Given the description of an element on the screen output the (x, y) to click on. 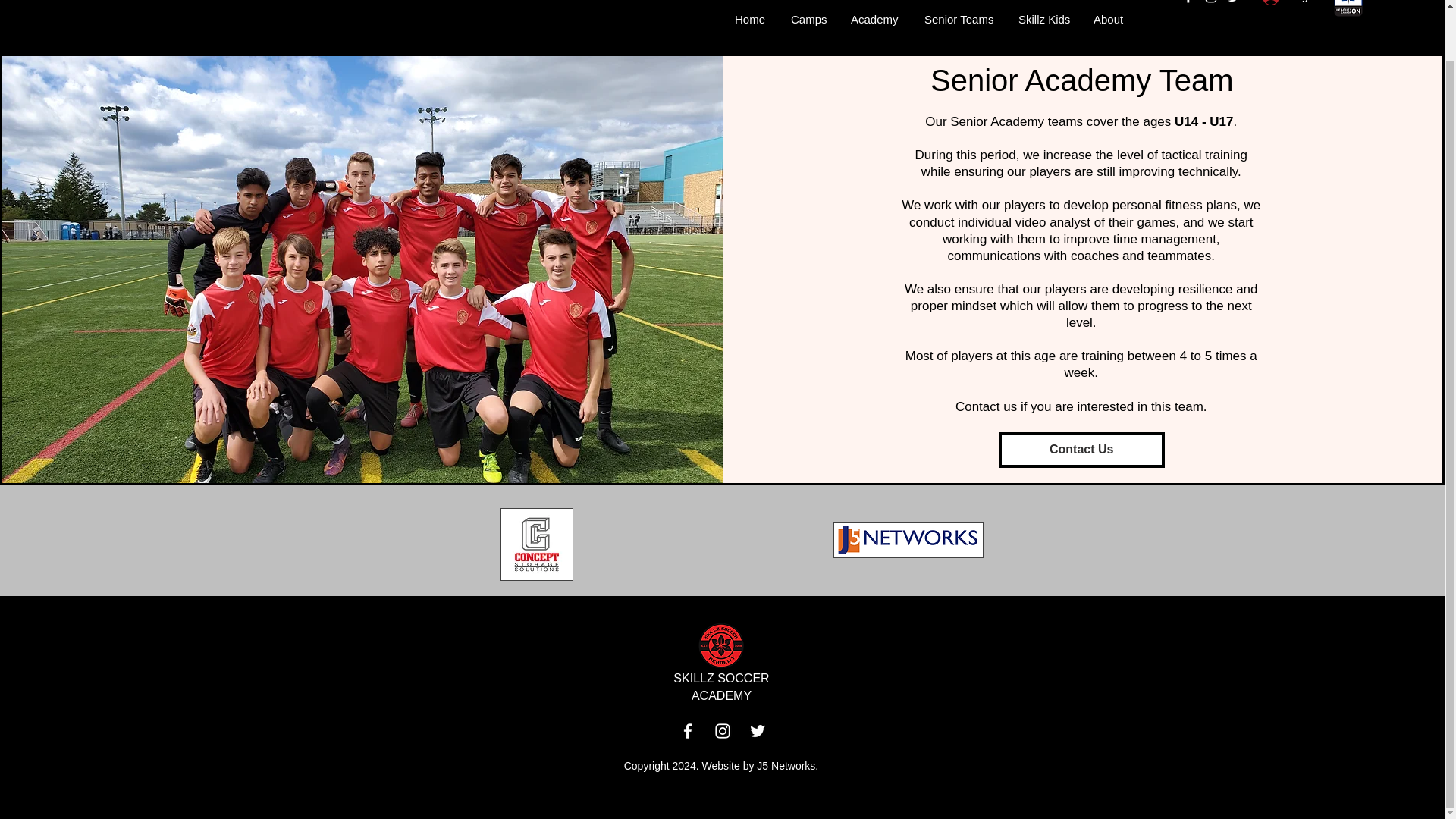
About (1109, 18)
J5 Networks. (787, 766)
Skillz Kids (1043, 18)
Log In (1291, 5)
SKILLZ SOCCER ACADEMY (720, 686)
png file-03.png (721, 645)
Contact Us (1081, 449)
Home (750, 18)
